Given the description of an element on the screen output the (x, y) to click on. 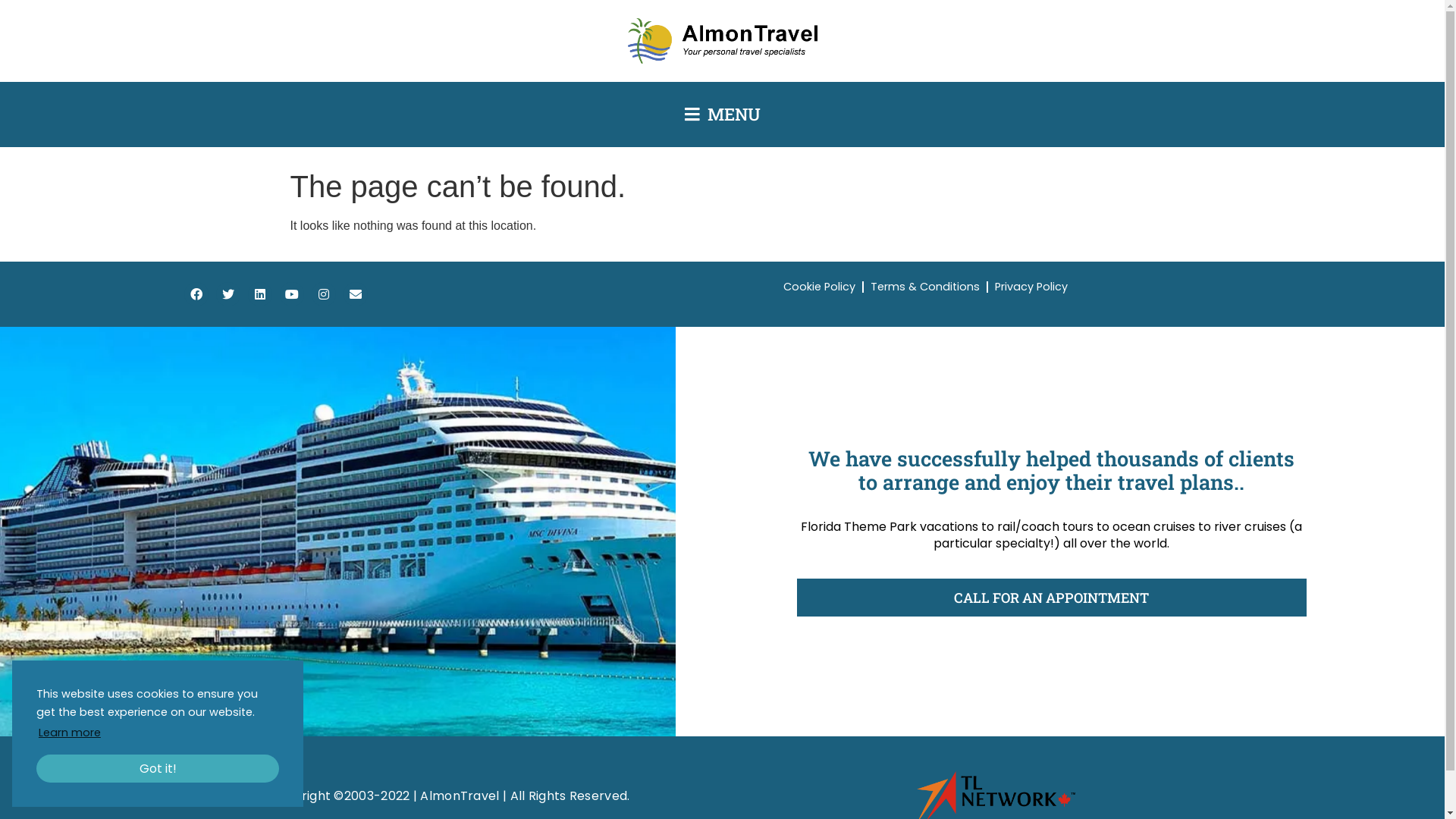
Learn more Element type: text (69, 732)
Cookie Policy Element type: text (819, 286)
CALL FOR AN APPOINTMENT Element type: text (1051, 597)
Terms & Conditions Element type: text (924, 286)
Privacy Policy Element type: text (1031, 286)
Got it! Element type: text (157, 768)
MENU Element type: text (721, 114)
